Given the description of an element on the screen output the (x, y) to click on. 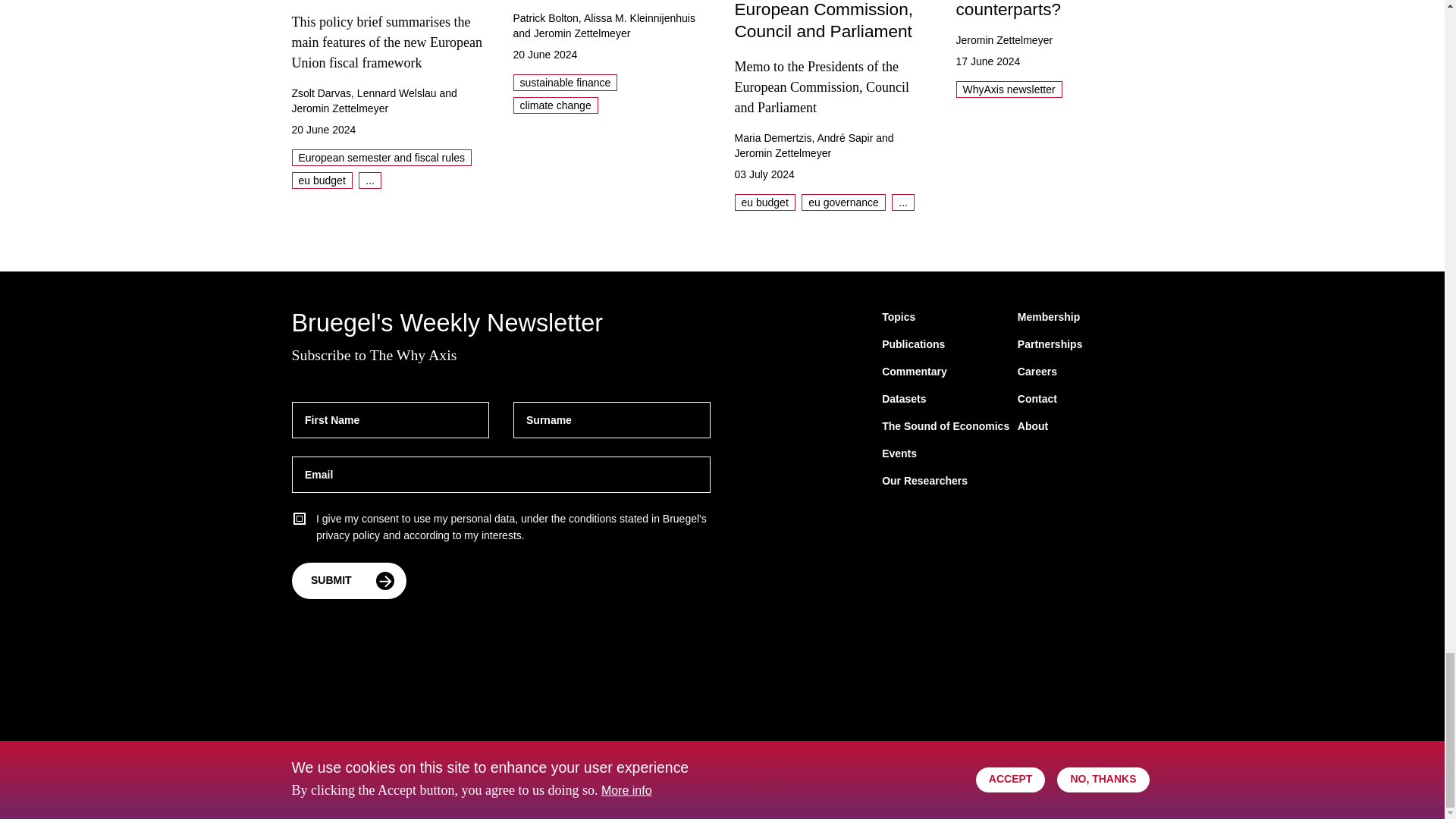
Topics (898, 317)
Follow us on Twitter (1018, 782)
